Given the description of an element on the screen output the (x, y) to click on. 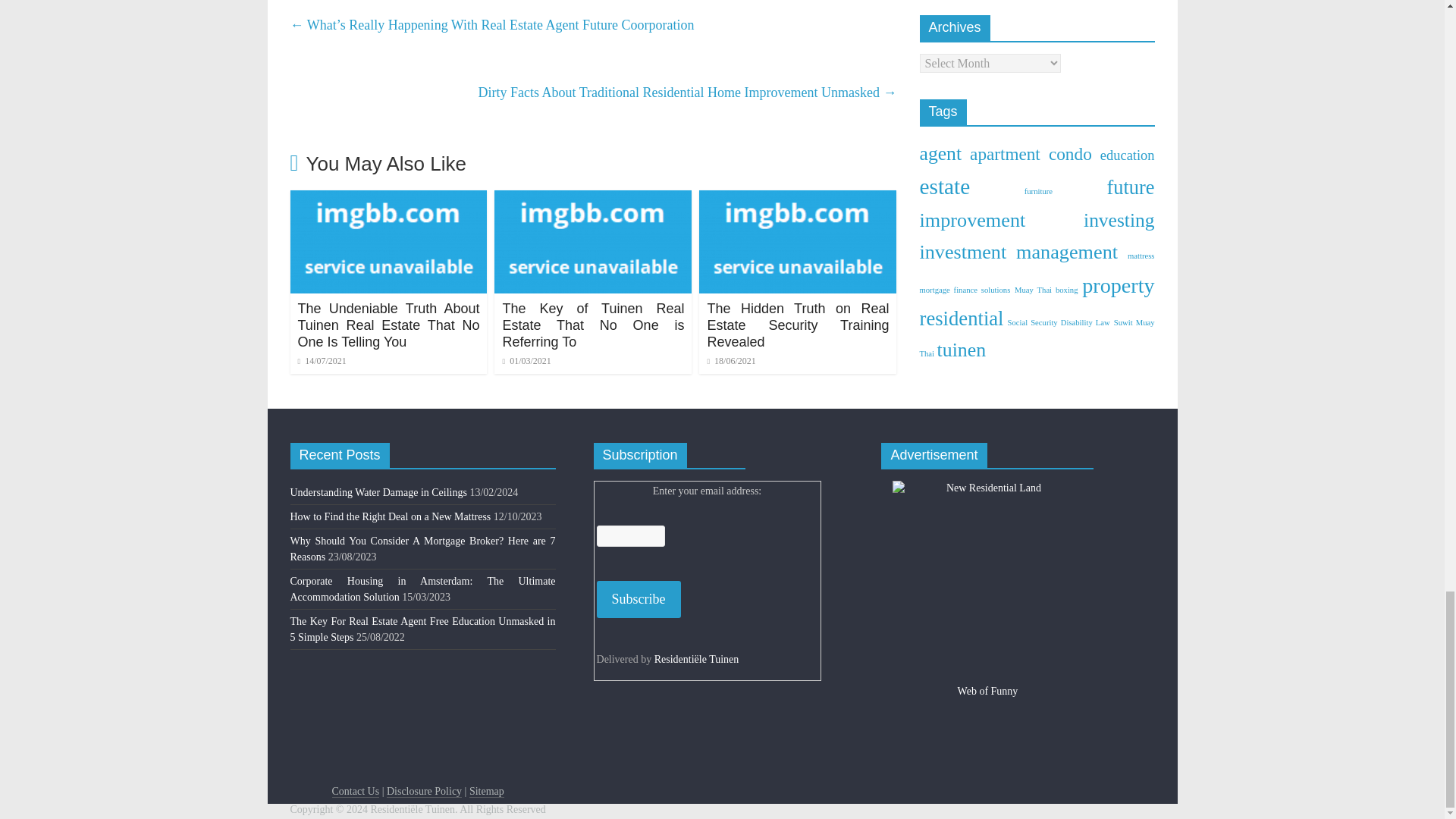
The Hidden Truth on Real Estate Security Training Revealed (797, 324)
The Key of Tuinen Real Estate That No One is Referring To (593, 324)
Subscribe (638, 599)
